Given the description of an element on the screen output the (x, y) to click on. 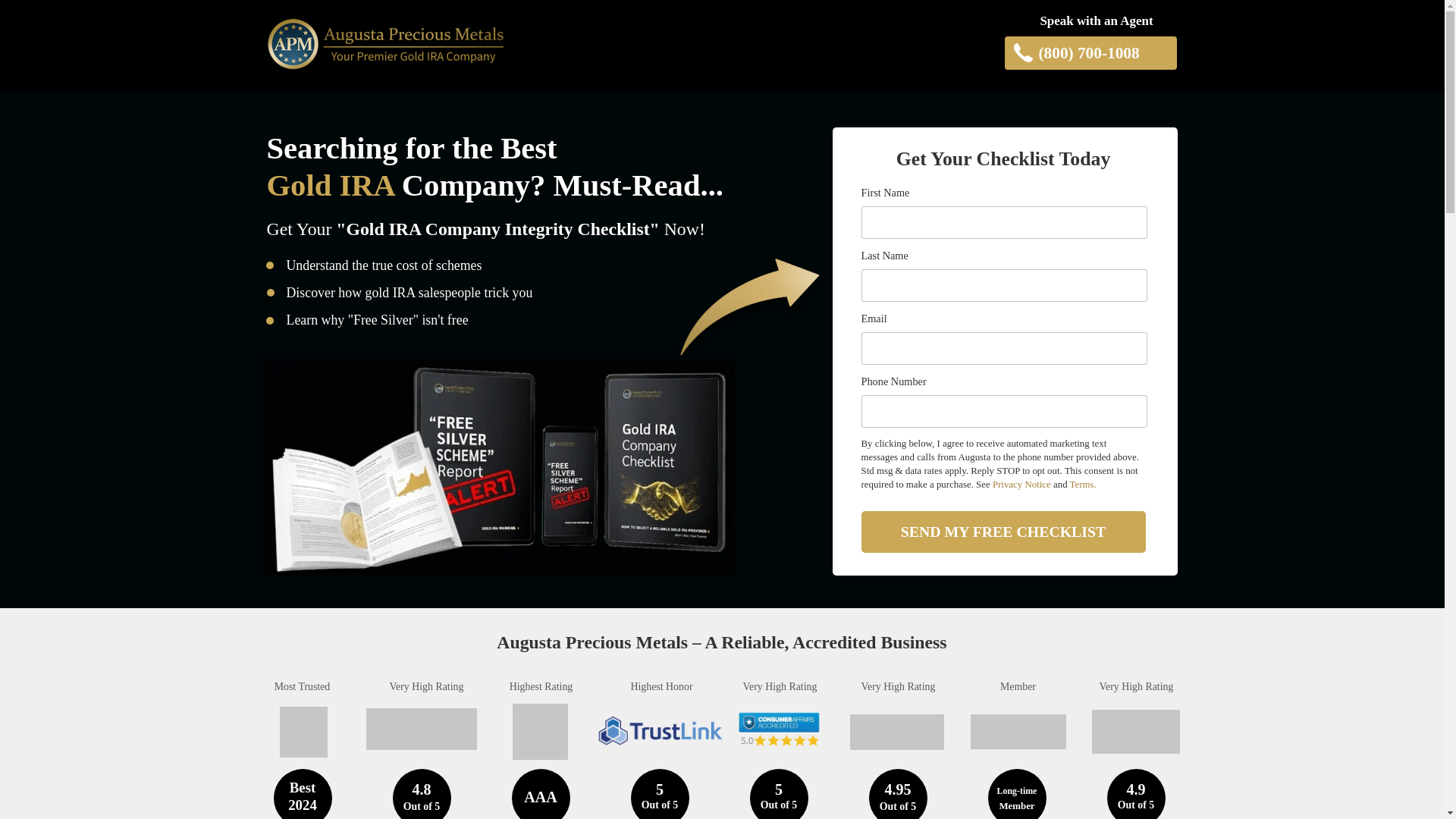
First Name (1004, 222)
Last Name (1004, 285)
Email (1004, 348)
Terms. (1083, 484)
SEND MY FREE CHECKLIST (1003, 531)
Phone Number (1004, 410)
Privacy Notice (1021, 484)
